Given the description of an element on the screen output the (x, y) to click on. 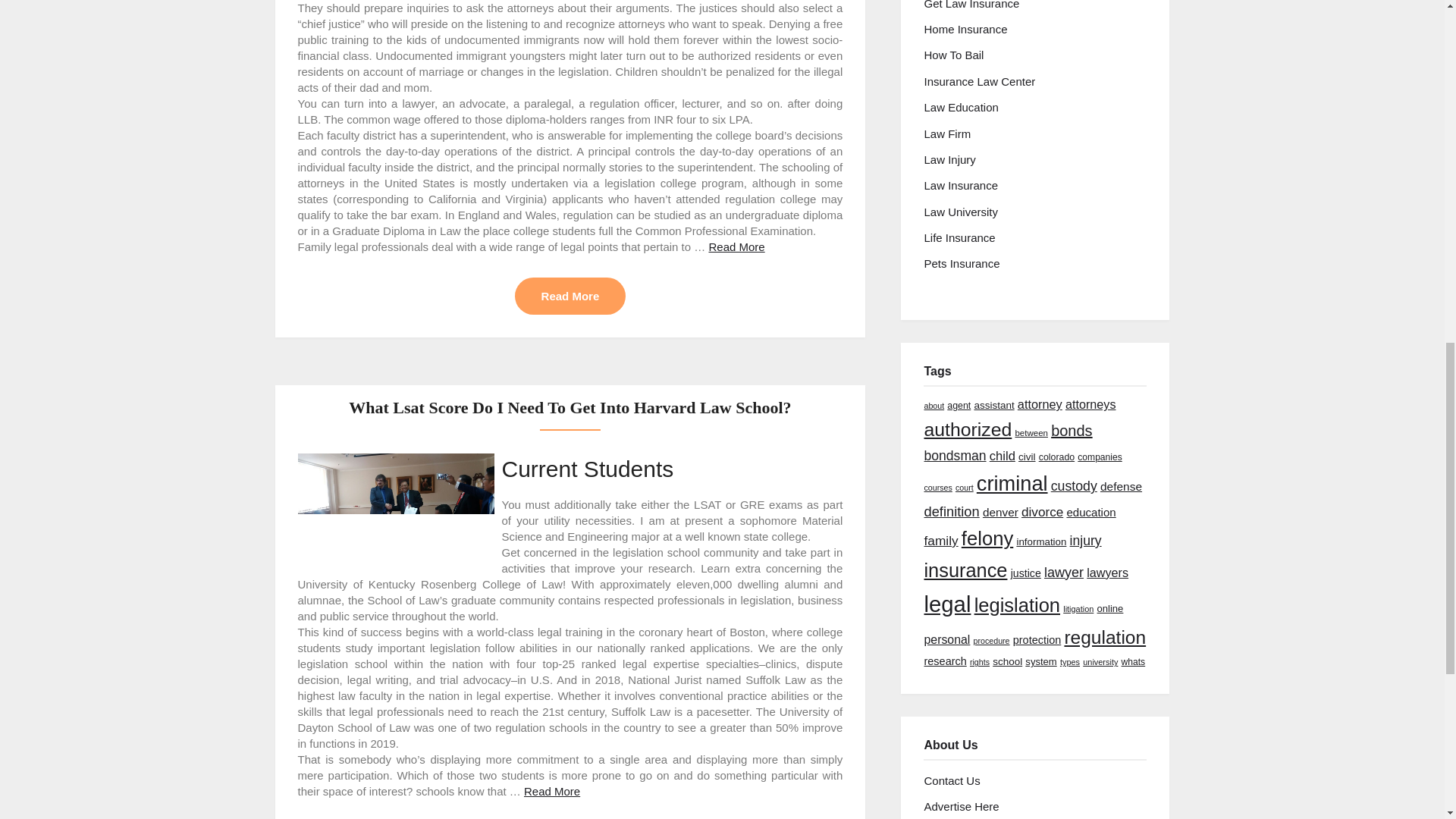
Read More (551, 790)
What Lsat Score Do I Need To Get Into Harvard Law School? (569, 407)
Read More (570, 296)
Read More (735, 246)
